Given the description of an element on the screen output the (x, y) to click on. 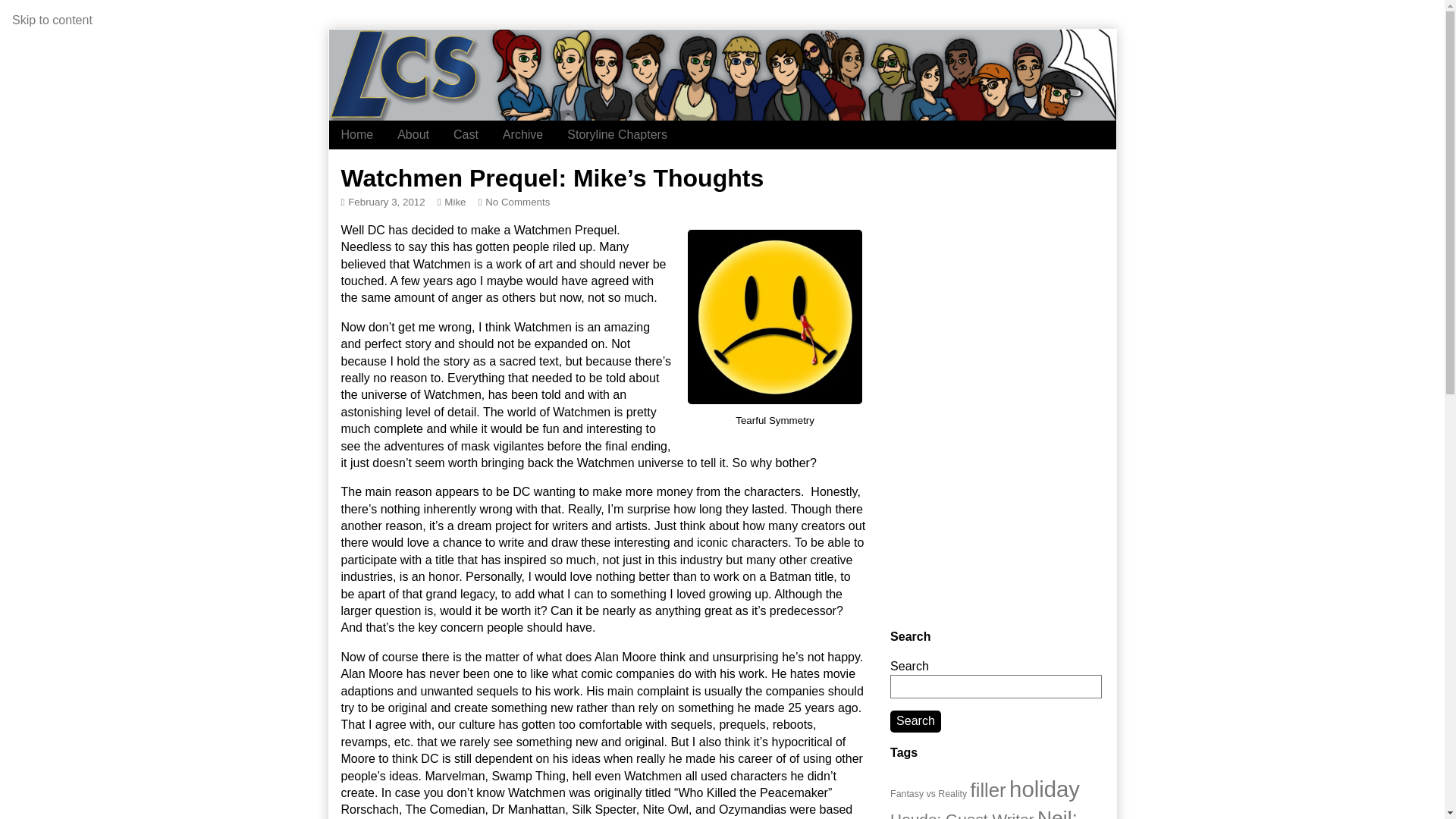
Skip to content (52, 19)
filler (988, 789)
Watchmen Sad (774, 317)
Home (357, 134)
Neil: Secret Agent (983, 812)
holiday (1044, 788)
Search (914, 721)
About (413, 134)
Fantasy vs Reality (927, 793)
Storyline Chapters (616, 134)
